Given the description of an element on the screen output the (x, y) to click on. 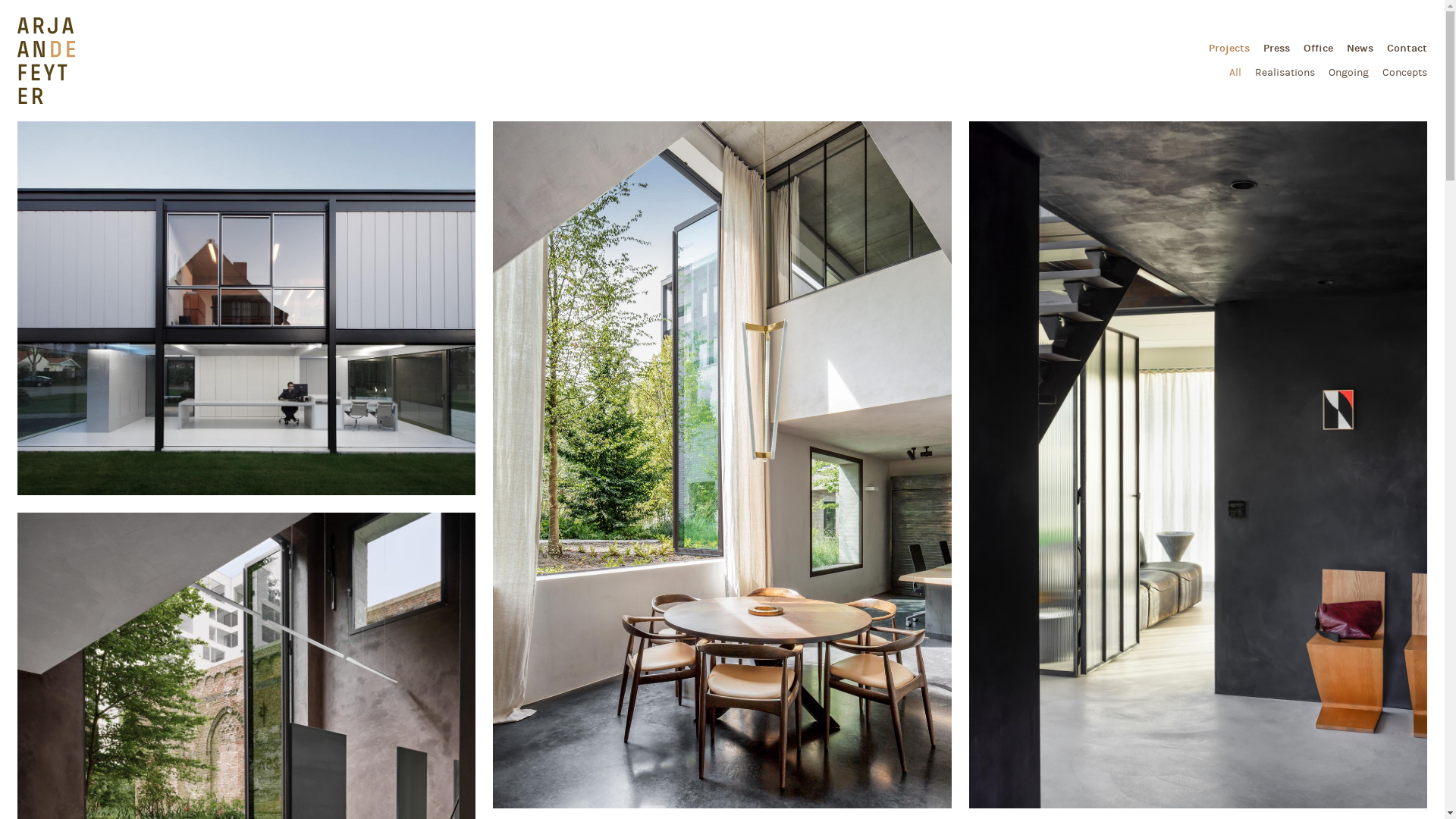
Office Element type: text (1318, 48)
Concepts Element type: text (1404, 72)
Skip to main content Element type: text (721, 122)
Go to Zoersel House Element type: hover (246, 308)
Press Element type: text (1276, 48)
Realisations Element type: text (1284, 72)
Go to the homepage Element type: hover (46, 60)
News Element type: text (1359, 48)
All Element type: text (1234, 72)
Go to Studio Cuoio Element type: hover (1198, 464)
Projects Element type: text (1229, 48)
Ongoing Element type: text (1348, 72)
Contact Element type: text (1406, 48)
Go to Office ADF Element type: hover (721, 464)
